Given the description of an element on the screen output the (x, y) to click on. 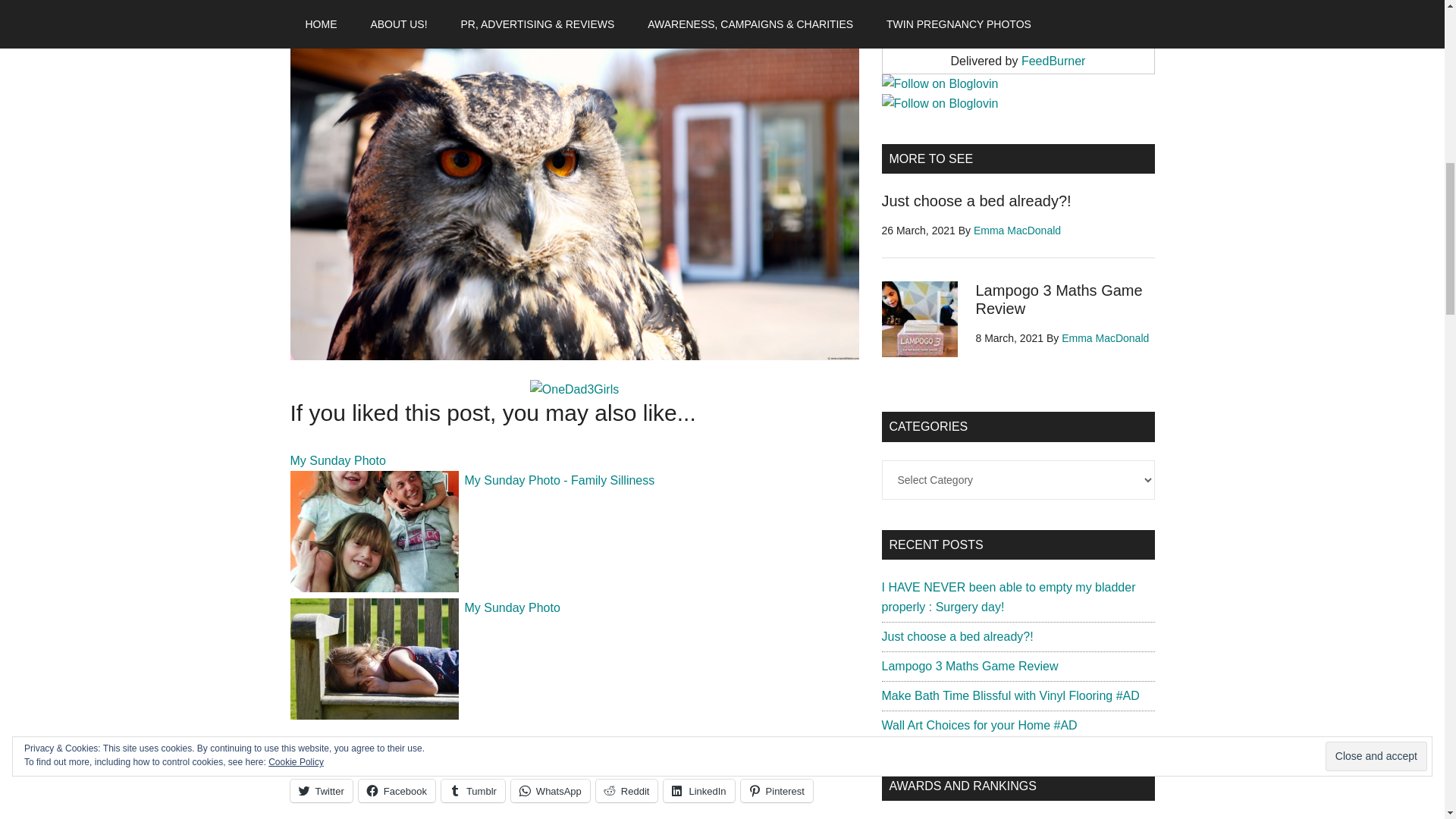
My Sunday Photo - Family Silliness (558, 479)
Follow Crazy With Twins on Bloglovin (938, 83)
OneDad3Girls (573, 388)
WhatsApp (550, 790)
LinkedIn (698, 790)
Facebook (396, 790)
My Sunday Photo (511, 606)
Click to share on Twitter (320, 790)
Click to share on Tumblr (473, 790)
Click to share on Facebook (396, 790)
Click to share on Reddit (626, 790)
Follow Crazy With Twins on Bloglovin (938, 103)
Pinterest (776, 790)
Reddit (626, 790)
My Sunday Photo (337, 459)
